Given the description of an element on the screen output the (x, y) to click on. 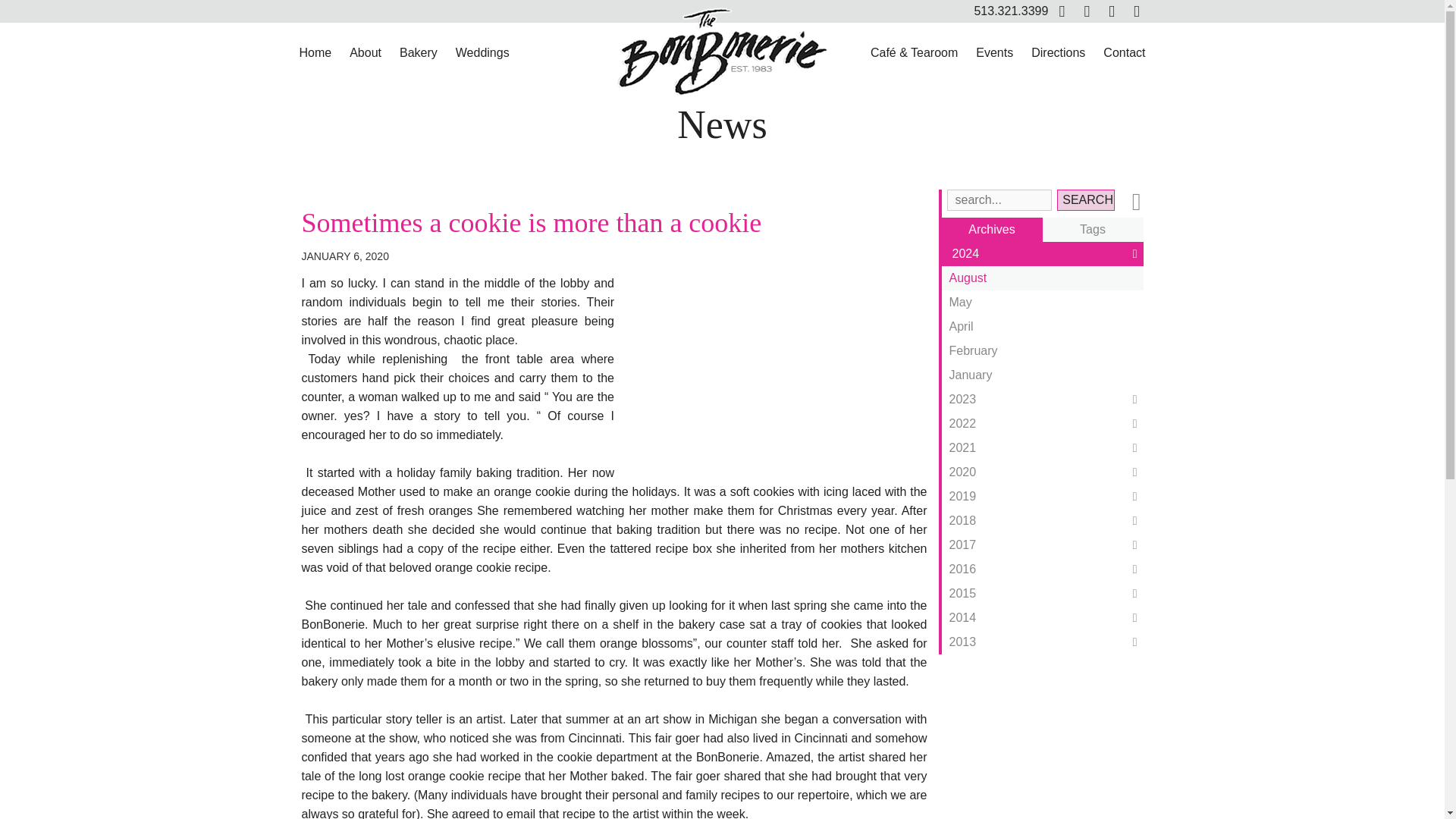
May (1042, 302)
January (1042, 375)
Weddings (482, 52)
Directions (1058, 52)
February (1042, 351)
Bakery (418, 52)
visit our facebook page (1062, 11)
visit our yelp page (1136, 11)
Archives (992, 229)
Contact (1124, 52)
